Given the description of an element on the screen output the (x, y) to click on. 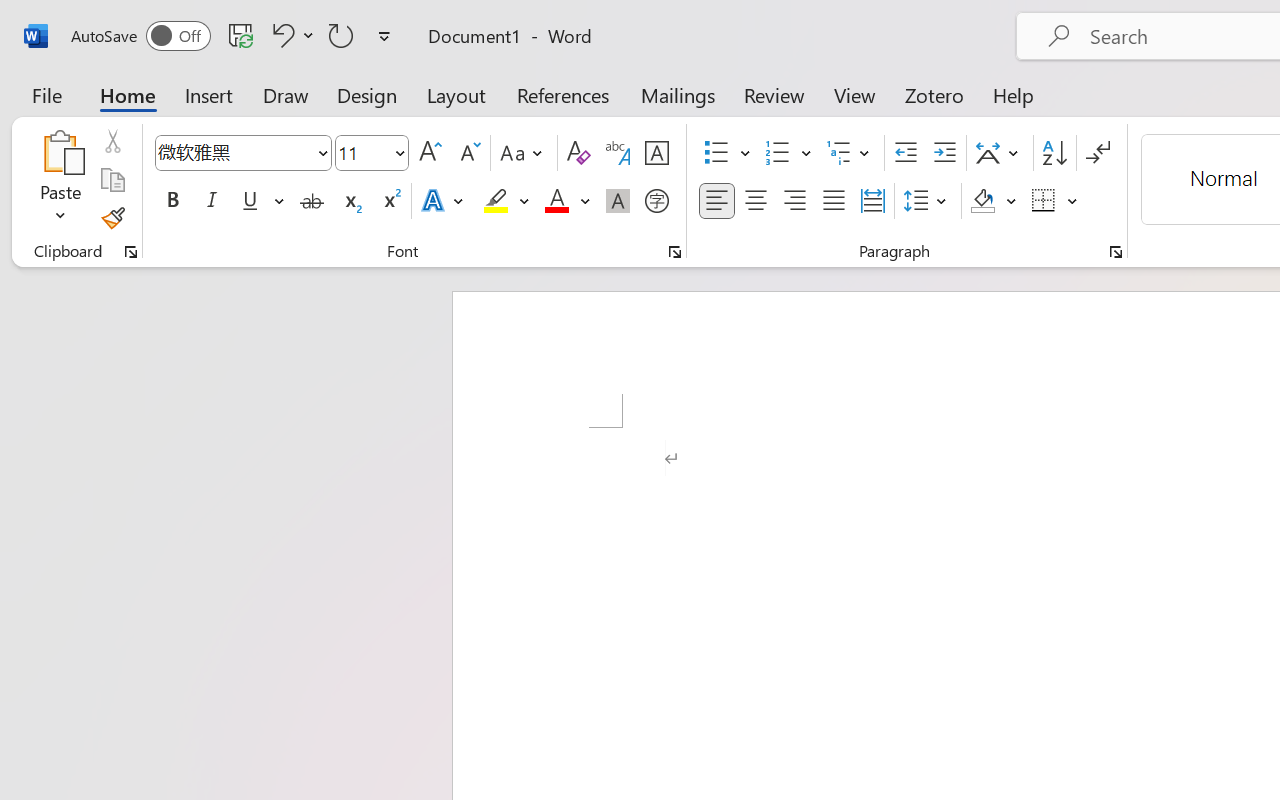
Font Color Red (556, 201)
